Given the description of an element on the screen output the (x, y) to click on. 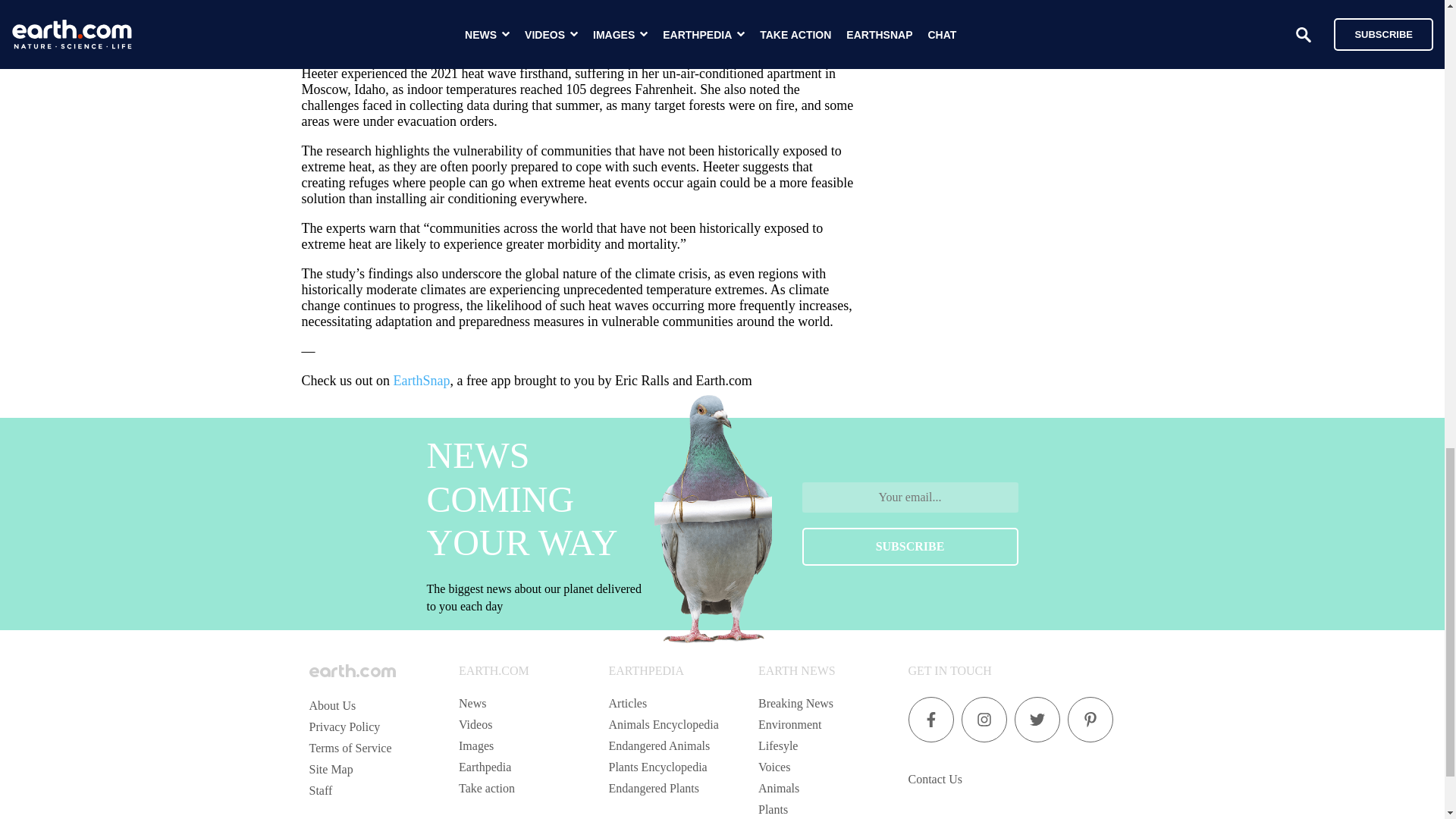
About Us (332, 705)
How AI is changing the way we approach health and fitness (1059, 1)
SUBSCRIBE (909, 546)
EarthSnap (421, 380)
